Given the description of an element on the screen output the (x, y) to click on. 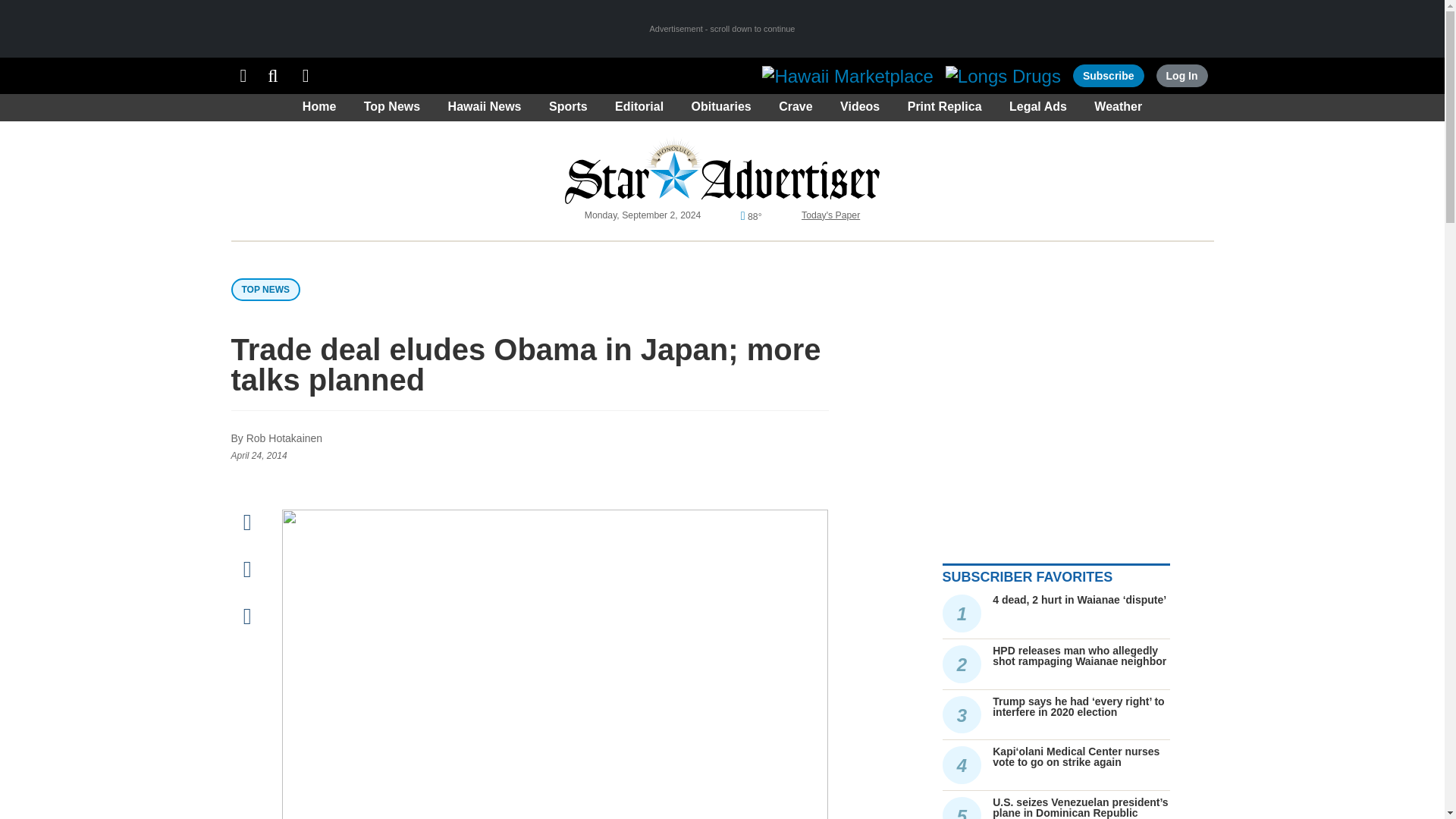
Honolulu Star-Advertiser (721, 169)
Print Replica (306, 75)
Log In (1182, 75)
Subscribe (1108, 75)
Search (272, 75)
Sections (243, 75)
